Given the description of an element on the screen output the (x, y) to click on. 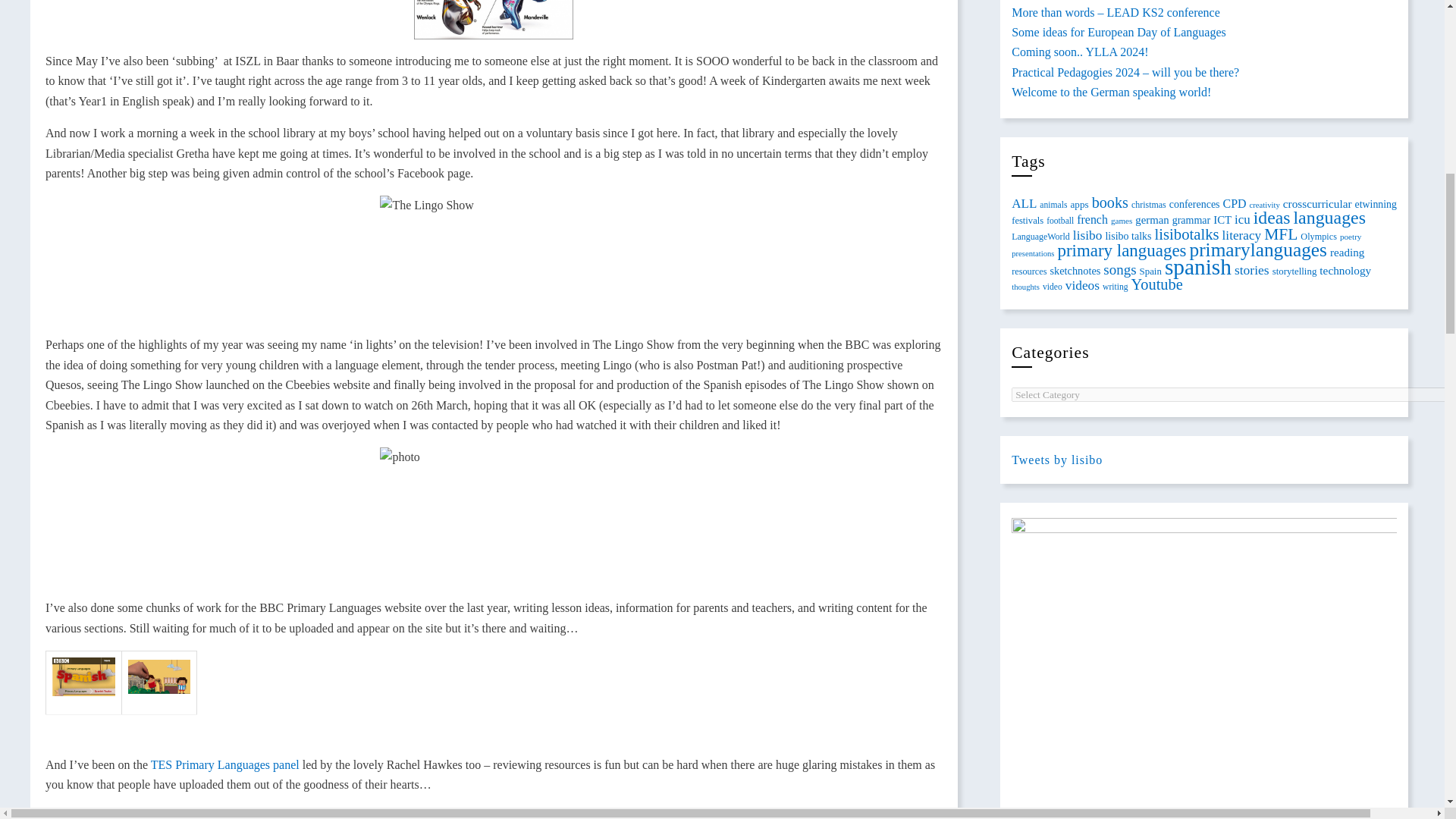
Welcome to the German speaking world! (1111, 91)
animals (1053, 204)
Coming soon.. YLLA 2024! (1079, 51)
apps (1078, 204)
Some ideas for European Day of Languages (1118, 31)
TES Primary Languages panel (225, 764)
ALL (1023, 202)
christmas (1148, 204)
books (1110, 202)
